Given the description of an element on the screen output the (x, y) to click on. 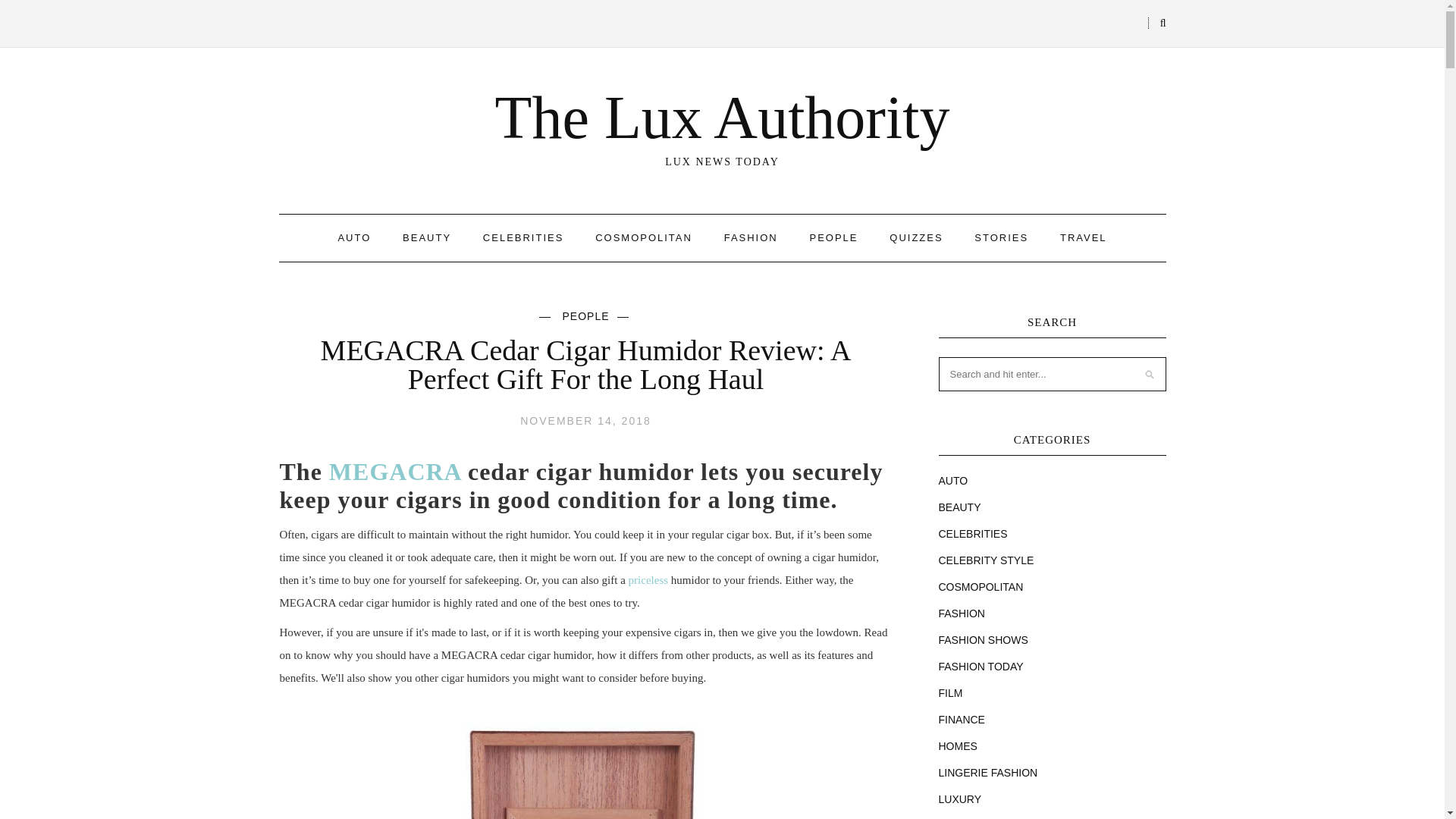
The Lux Authority (722, 117)
STORIES (1000, 237)
BEAUTY (427, 237)
TRAVEL (1082, 237)
COSMOPOLITAN (644, 237)
priceless (648, 580)
FASHION (750, 237)
PEOPLE (833, 237)
MEGACRA cedar cigar humidor 2 (586, 765)
QUIZZES (915, 237)
PEOPLE (585, 315)
MEGACRA (395, 471)
CELEBRITIES (523, 237)
The Lux Authority (722, 117)
